Given the description of an element on the screen output the (x, y) to click on. 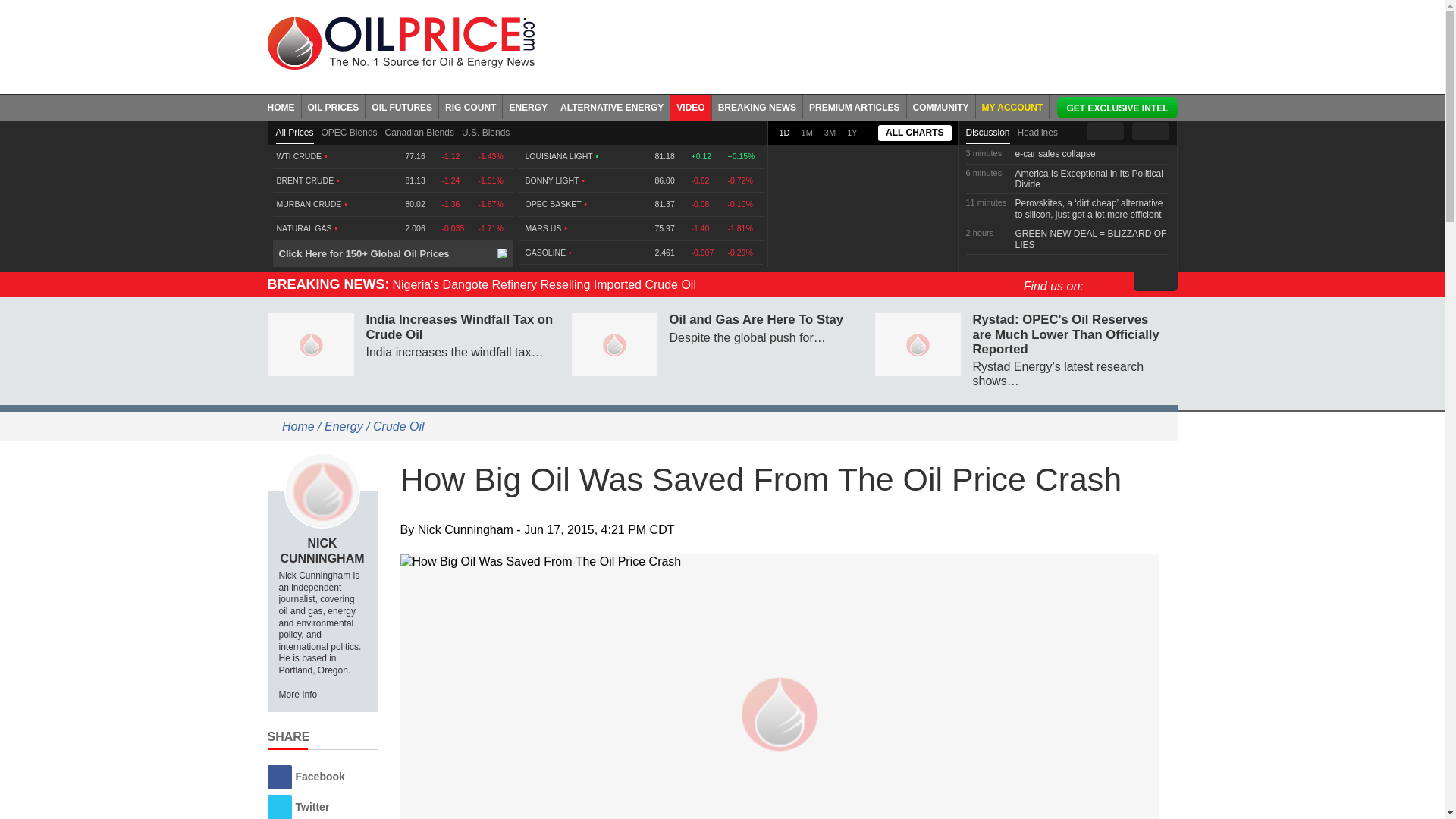
How Big Oil Was Saved From The Oil Price Crash (779, 561)
COMMUNITY (941, 106)
Nick Cunningham (321, 490)
OIL PRICES (333, 106)
HOME (283, 106)
RIG COUNT (470, 106)
ENERGY (528, 106)
BREAKING NEWS (757, 106)
MY ACCOUNT (1012, 106)
ALTERNATIVE ENERGY (611, 106)
OIL FUTURES (402, 106)
VIDEO (690, 106)
PREMIUM ARTICLES (855, 106)
Oil prices - Oilprice.com (400, 42)
